Given the description of an element on the screen output the (x, y) to click on. 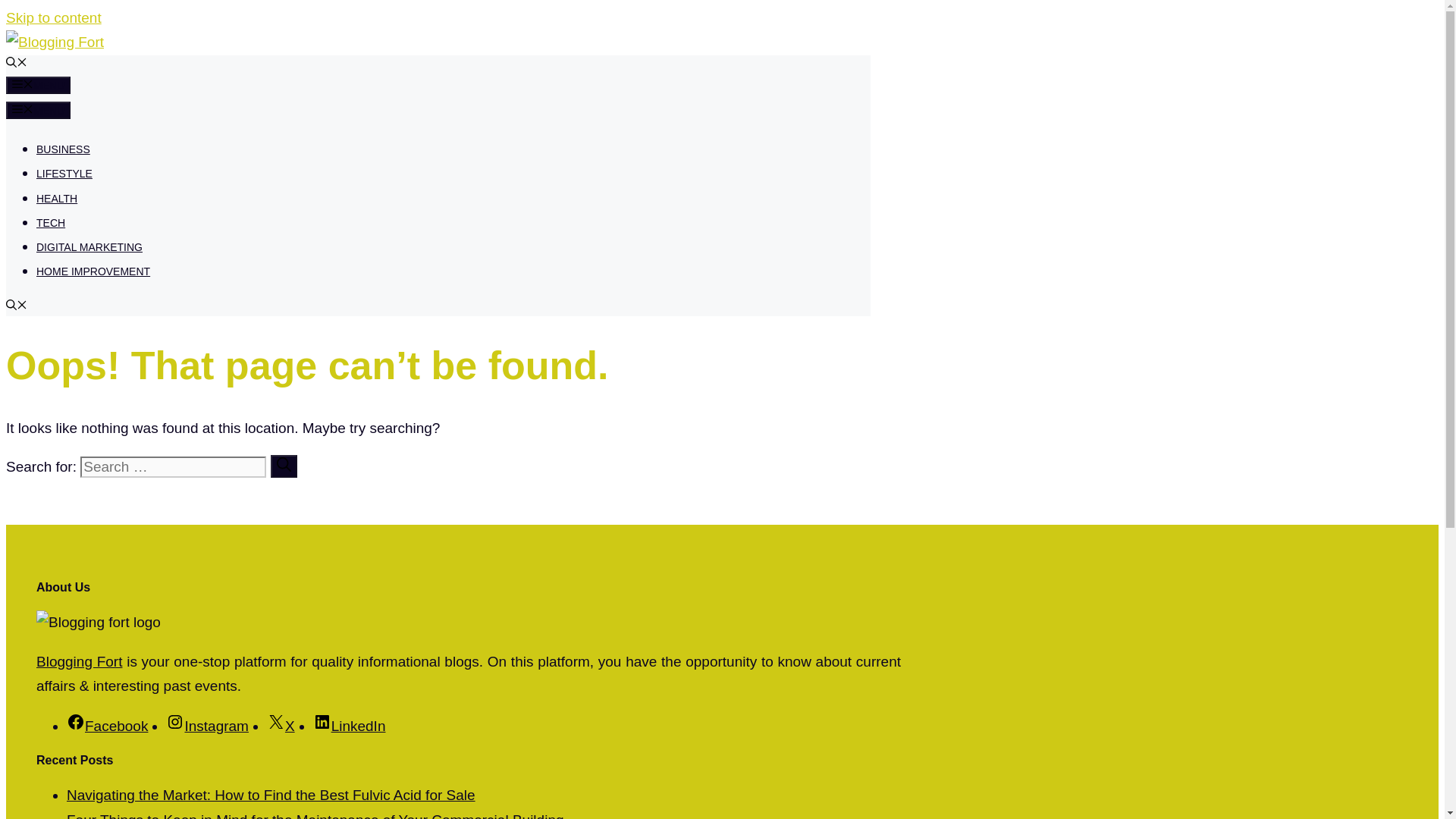
TECH (50, 223)
MENU (37, 85)
Skip to content (53, 17)
HOME IMPROVEMENT (92, 271)
LinkedIn (349, 725)
BUSINESS (63, 149)
HEALTH (56, 198)
MENU (37, 109)
Blogging Fort (79, 661)
LIFESTYLE (64, 173)
